Given the description of an element on the screen output the (x, y) to click on. 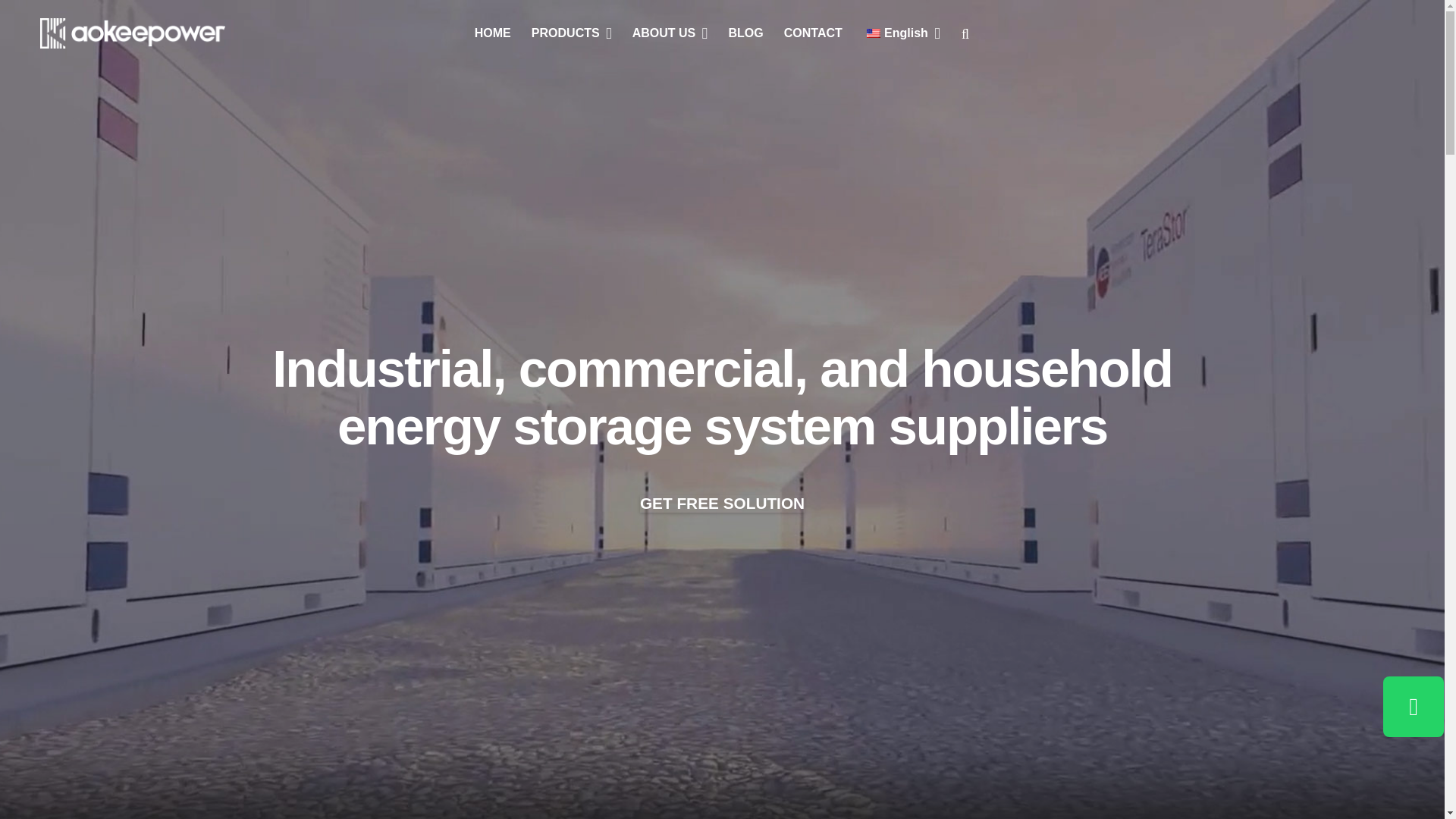
CONTACT (812, 33)
PRODUCTS (571, 33)
English (900, 33)
English (873, 32)
ABOUT US (669, 33)
GET FREE SOLUTION (722, 503)
